Given the description of an element on the screen output the (x, y) to click on. 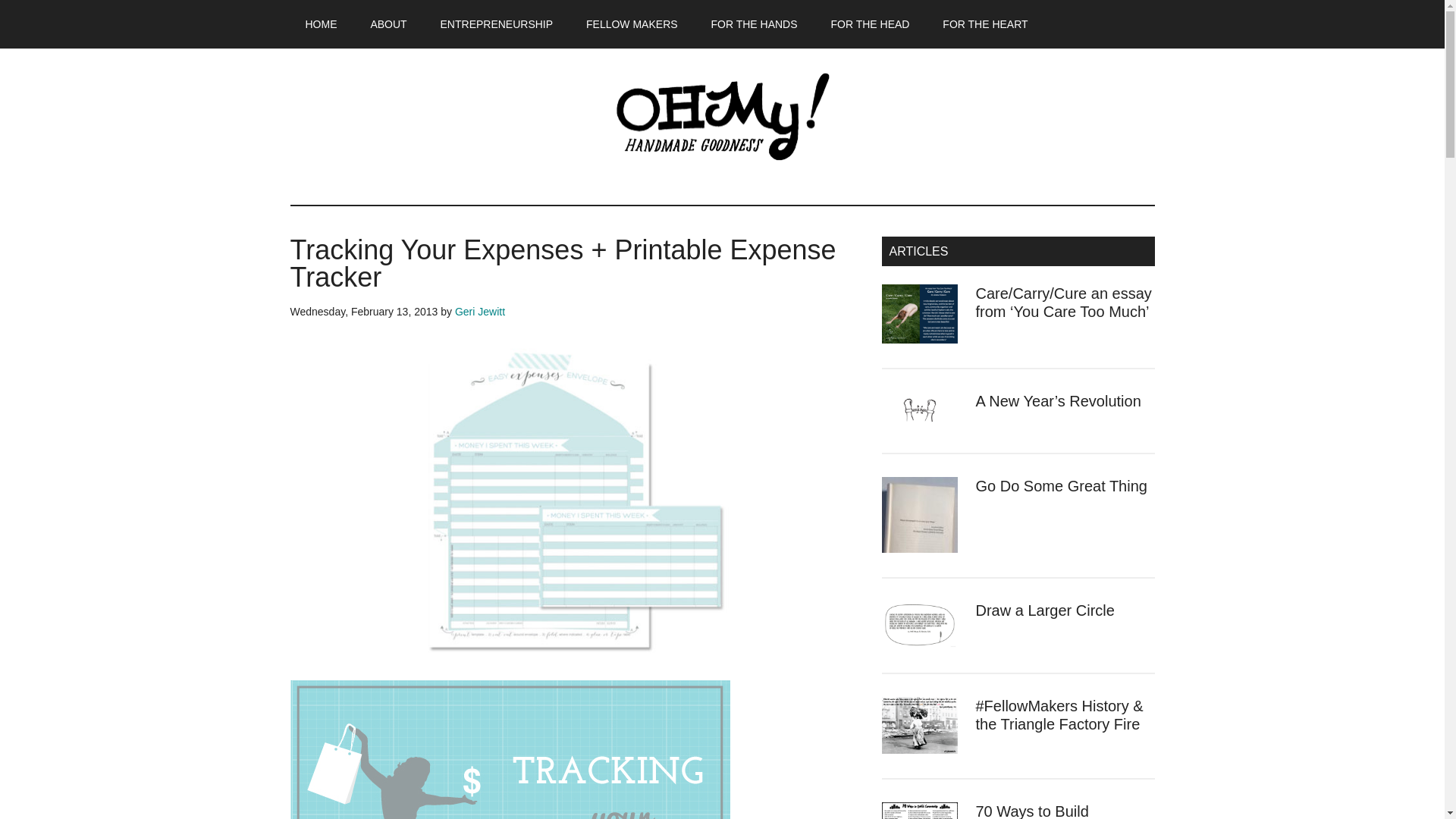
Geri Jewitt (479, 311)
FELLOW MAKERS (631, 24)
FOR THE HANDS (753, 24)
ENTREPRENEURSHIP (497, 24)
ABOUT (388, 24)
HOME (320, 24)
FOR THE HEART (984, 24)
FOR THE HEAD (869, 24)
